Given the description of an element on the screen output the (x, y) to click on. 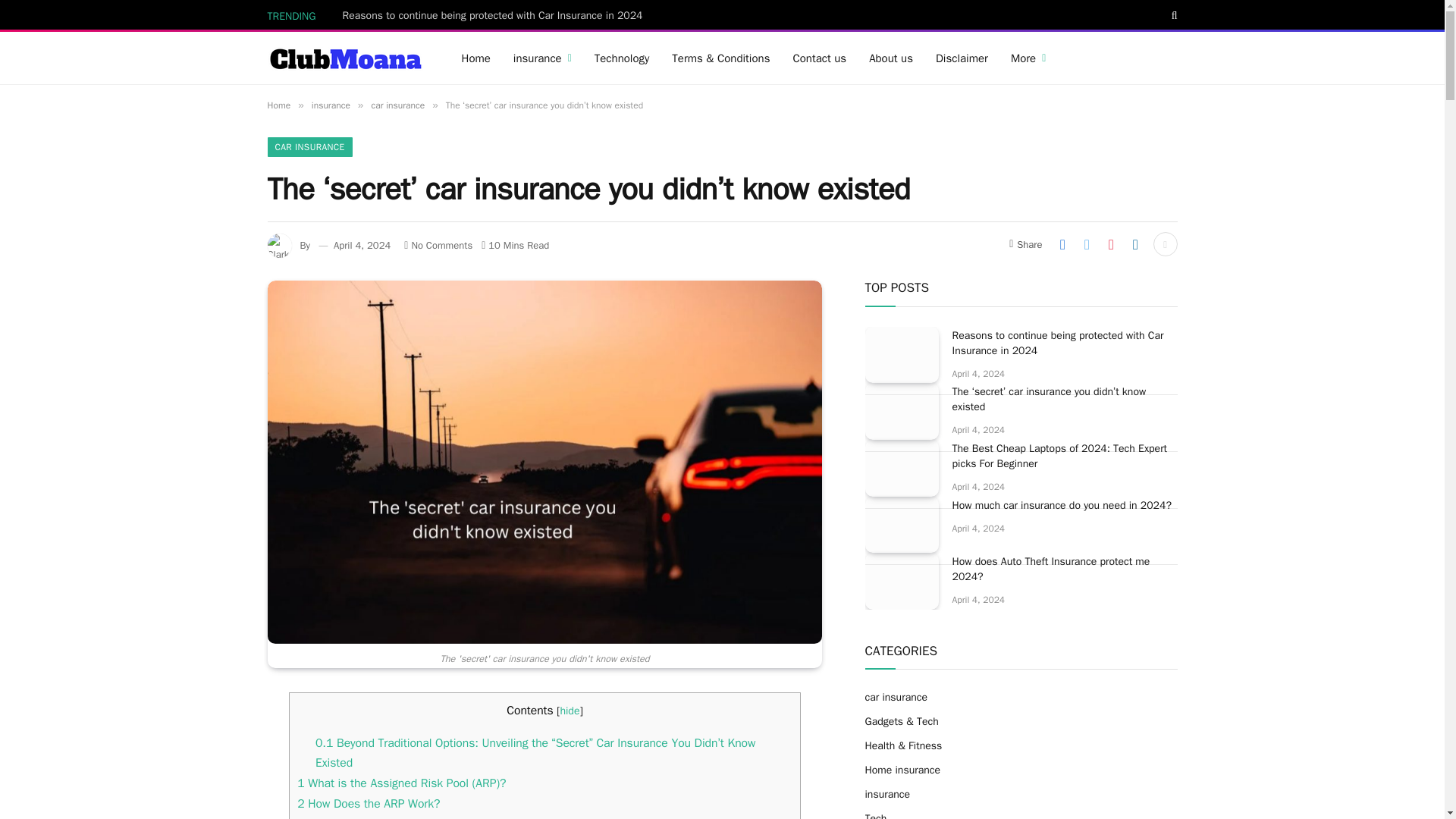
Home (475, 57)
Contact us (818, 57)
No Comments (437, 245)
CAR INSURANCE (309, 147)
Disclaimer (961, 57)
Technology (622, 57)
insurance (330, 105)
car insurance (398, 105)
Home (277, 105)
Share on LinkedIn (1135, 243)
Share on Facebook (1062, 243)
More (1027, 57)
Share on Pinterest (1110, 243)
insurance (542, 57)
